Given the description of an element on the screen output the (x, y) to click on. 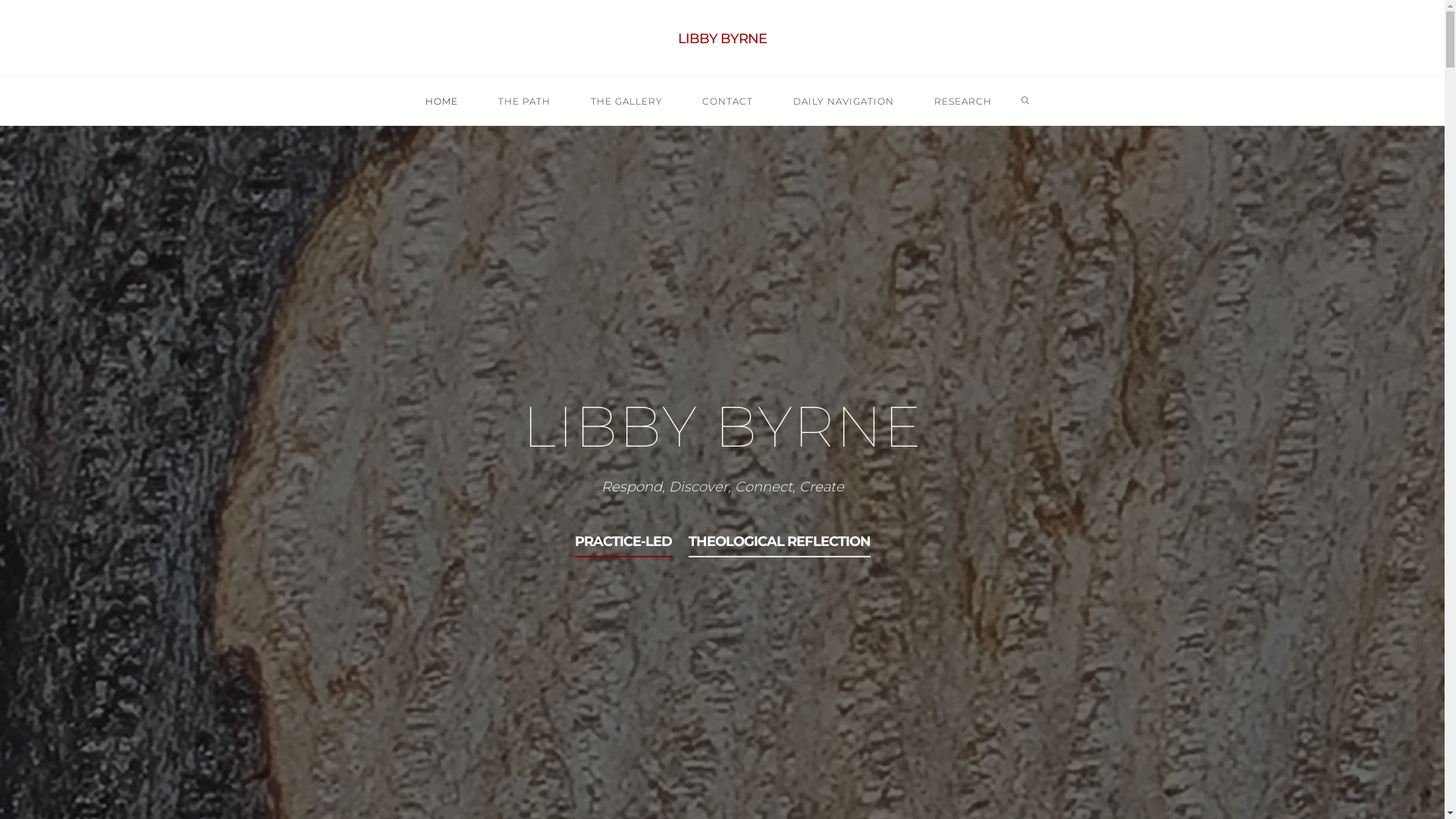
PRACTICE-LED Element type: text (622, 540)
THE PATH Element type: text (523, 100)
THE GALLERY Element type: text (626, 100)
CONTACT Element type: text (727, 100)
LIBBY BYRNE Element type: text (721, 38)
DAILY NAVIGATION Element type: text (843, 100)
SEARCH Element type: text (1025, 100)
RESEARCH Element type: text (963, 100)
HOME Element type: text (441, 100)
THEOLOGICAL REFLECTION Element type: text (779, 540)
